Given the description of an element on the screen output the (x, y) to click on. 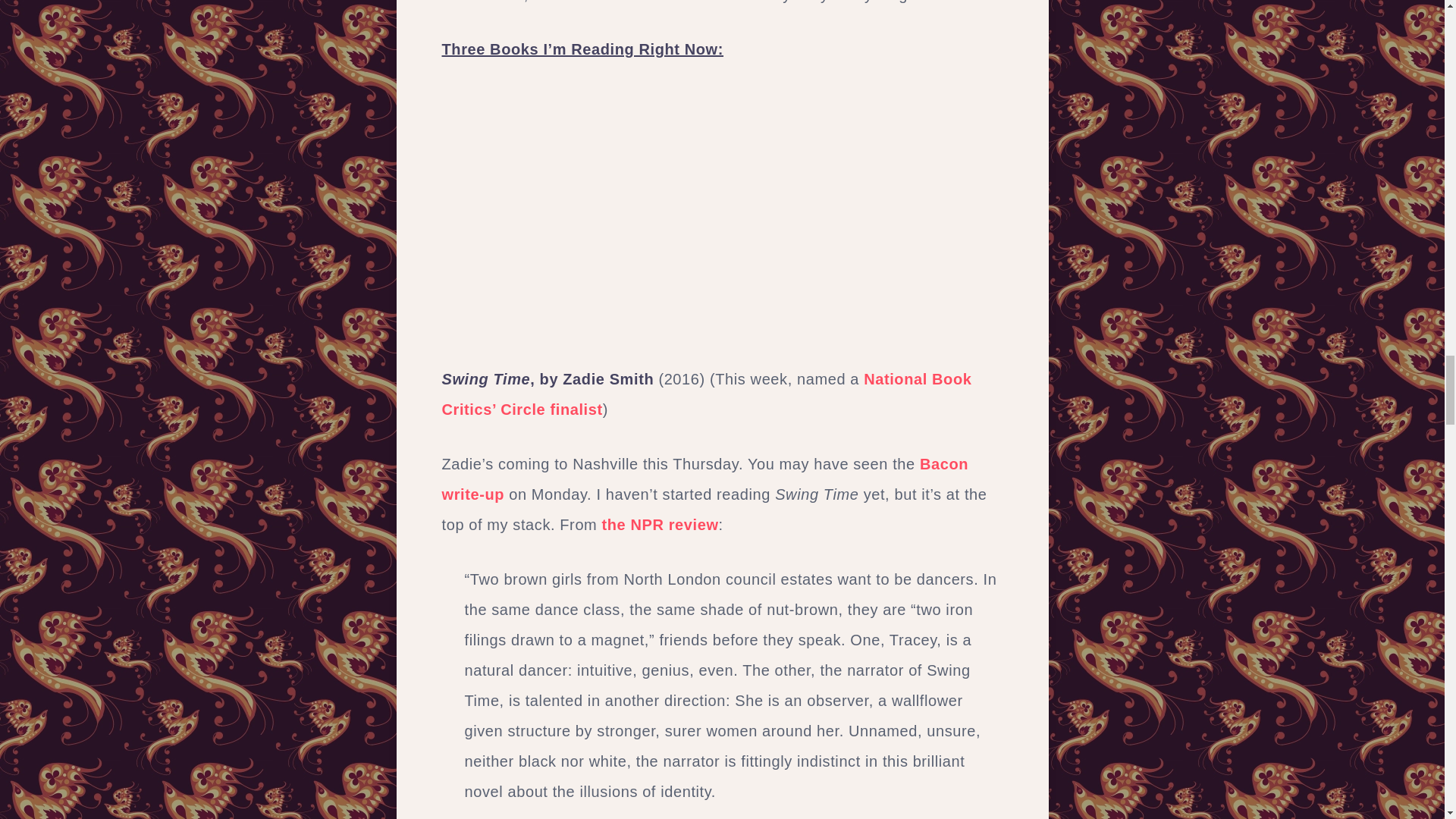
Bacon write-up (704, 478)
the NPR review (660, 524)
